Given the description of an element on the screen output the (x, y) to click on. 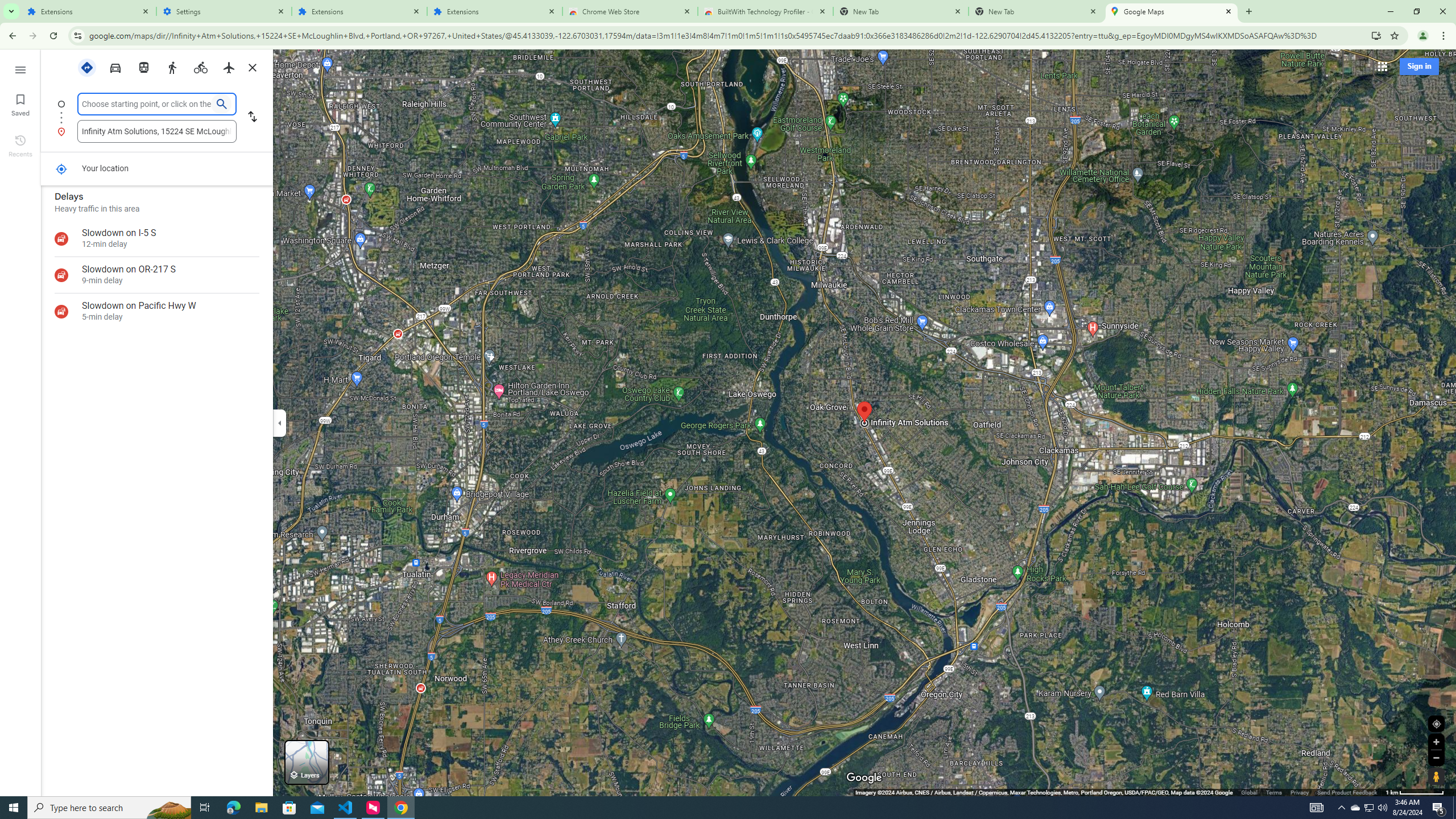
Saved (20, 104)
AutomationID: sb_ifc50 (146, 103)
BuiltWith Technology Profiler - Chrome Web Store (765, 11)
Collapse side panel (279, 422)
Reverse starting point and destination (251, 117)
Walking (172, 66)
